Given the description of an element on the screen output the (x, y) to click on. 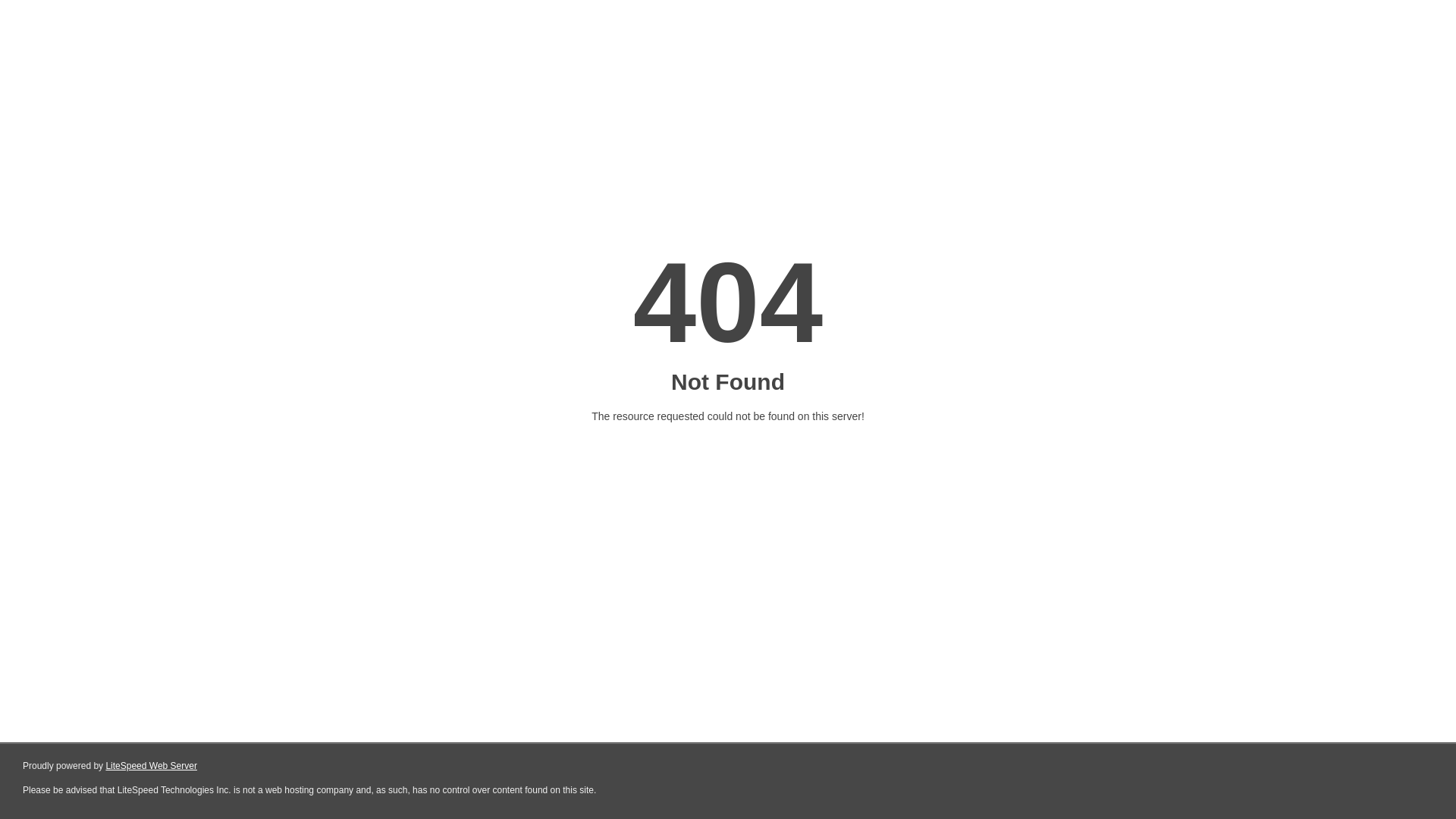
LiteSpeed Web Server Element type: text (151, 765)
